Given the description of an element on the screen output the (x, y) to click on. 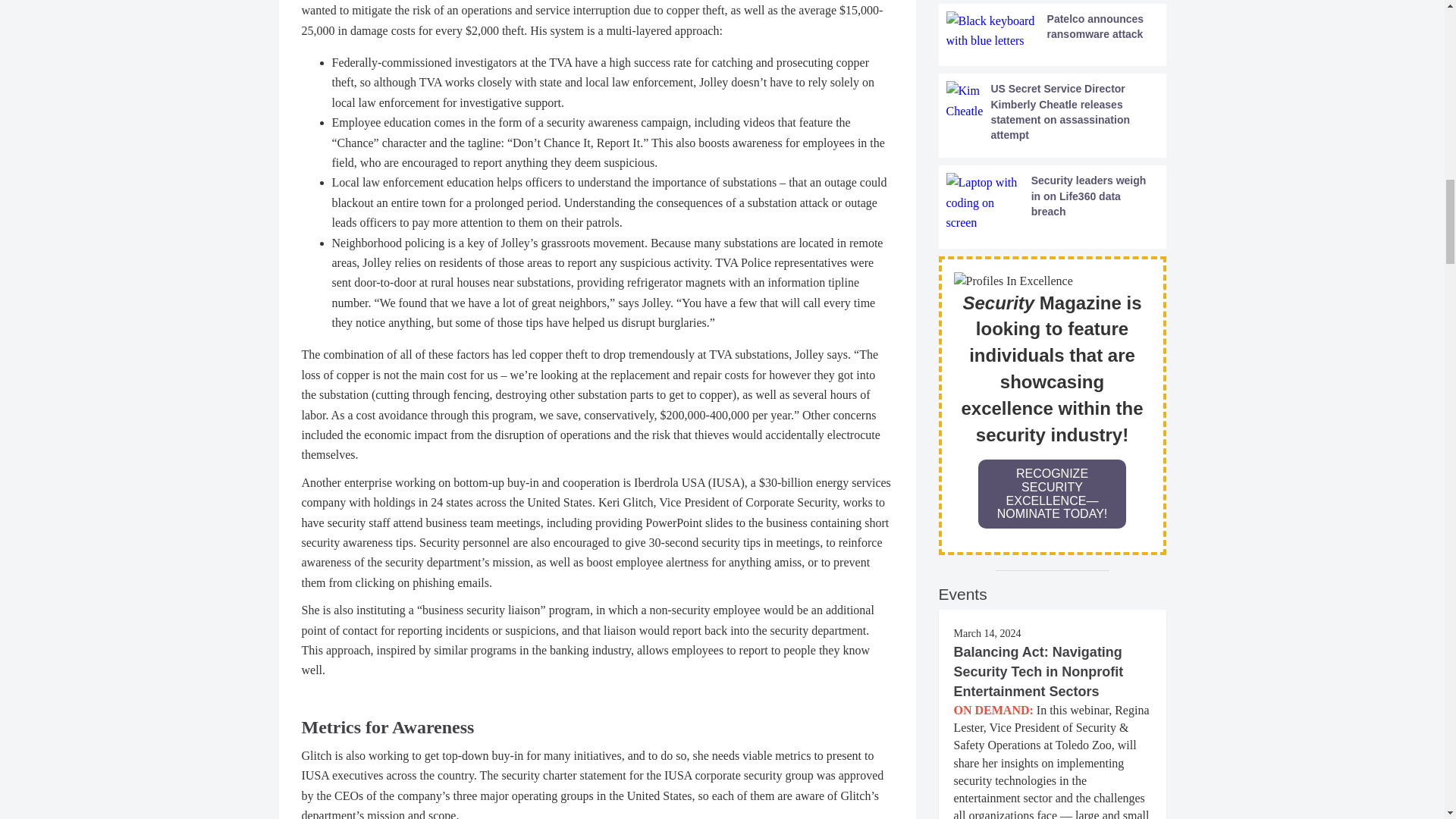
Patelco announces ransomware attack (1052, 31)
Security leaders weigh in on Life360 data breach (1052, 202)
